Given the description of an element on the screen output the (x, y) to click on. 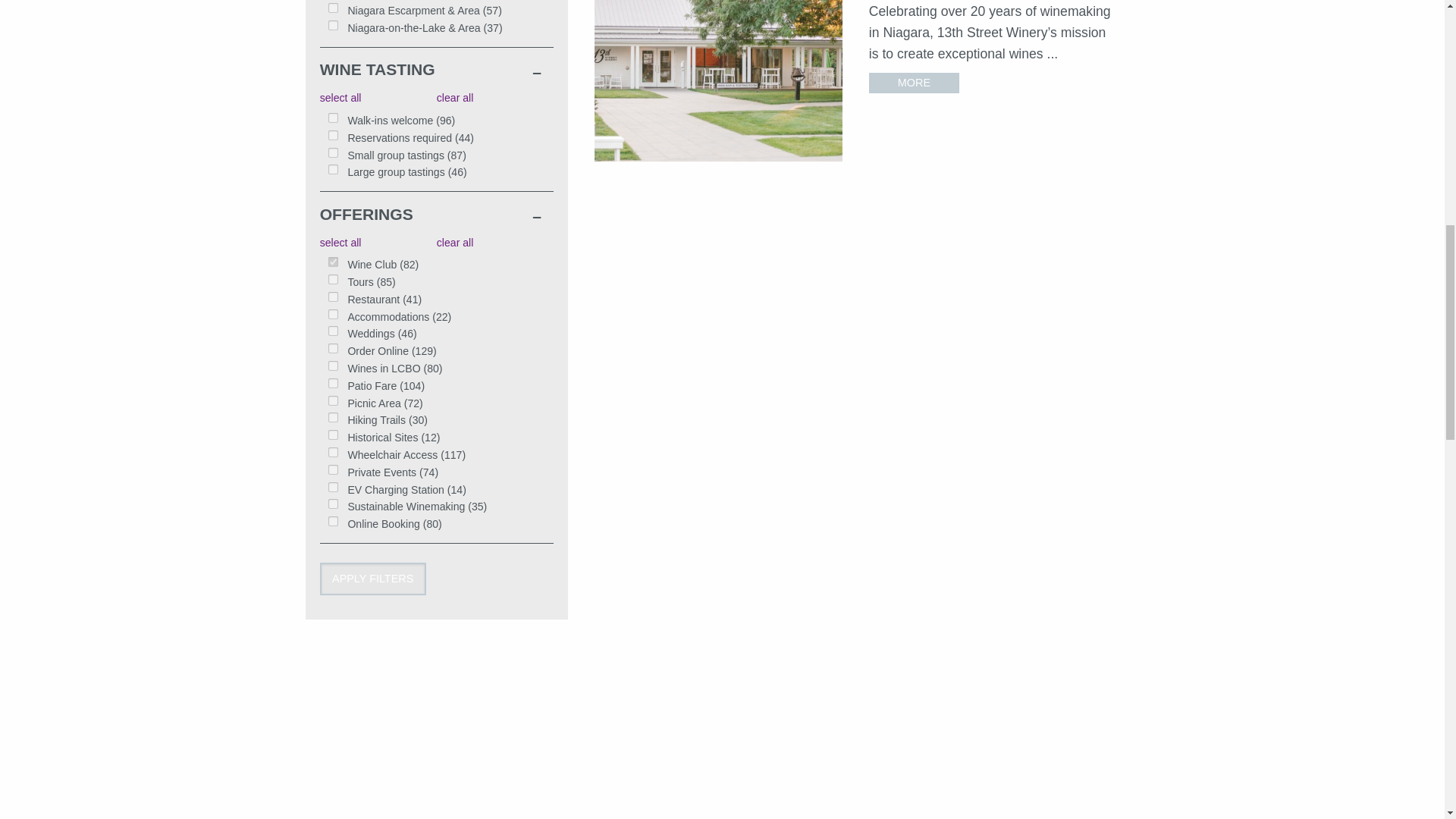
lcbo (333, 366)
tours (333, 279)
weddings (333, 330)
182 (333, 25)
181 (333, 8)
